Given the description of an element on the screen output the (x, y) to click on. 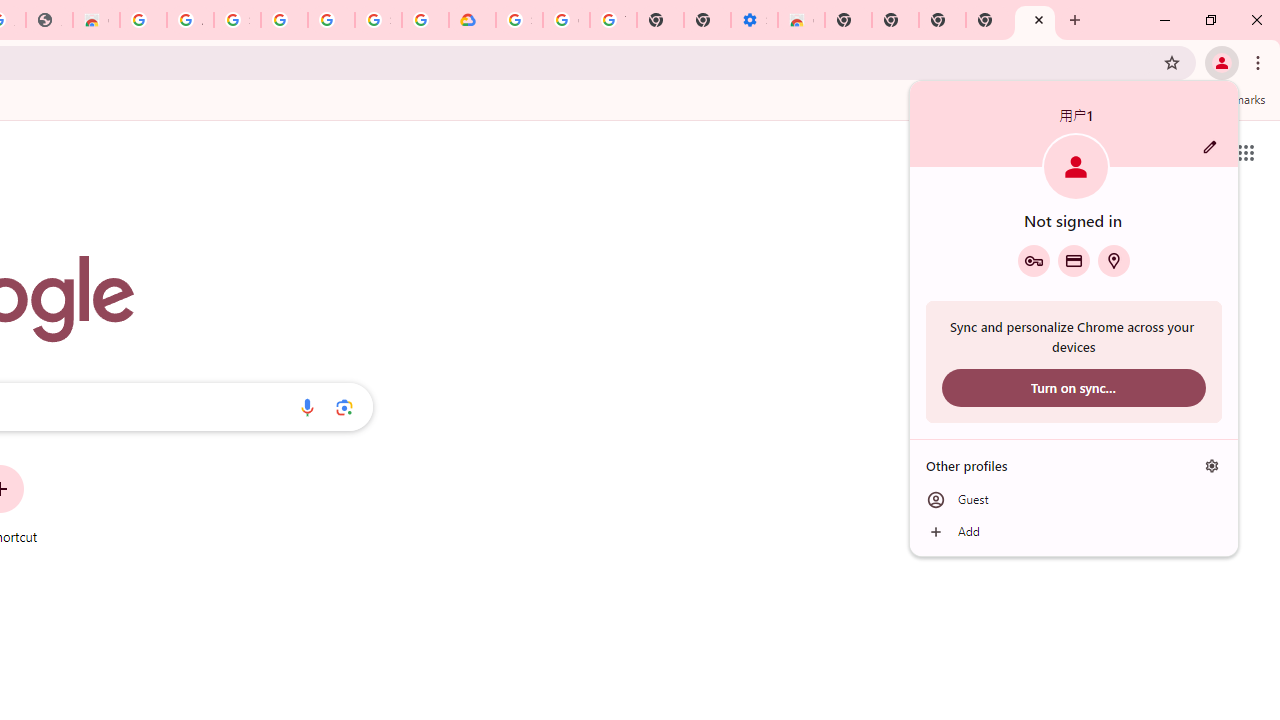
New Tab (1035, 20)
Manage profiles (1211, 465)
Guest (1073, 499)
